Given the description of an element on the screen output the (x, y) to click on. 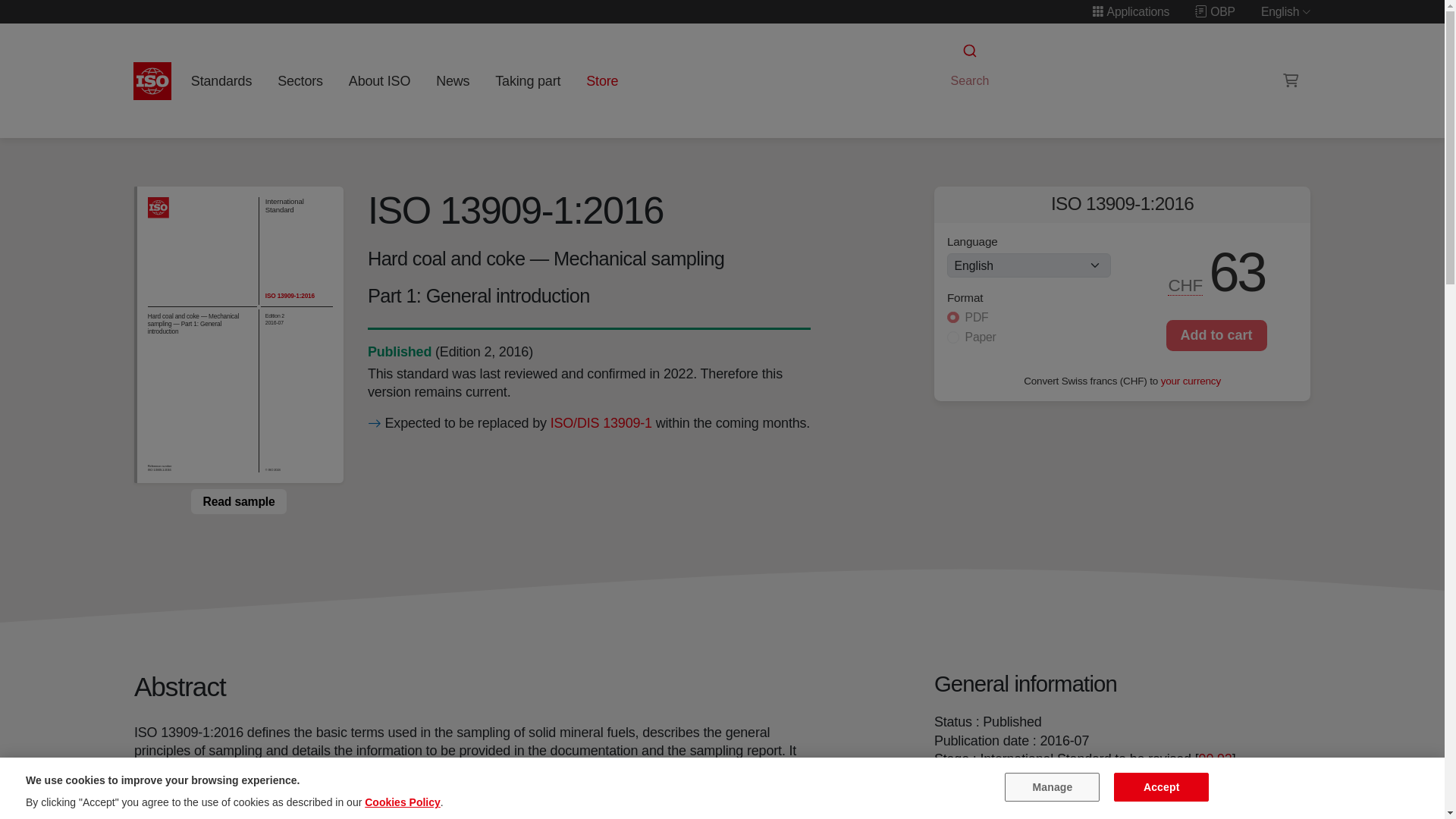
International Organization for Standardization (152, 80)
90.92 (1214, 758)
Published (398, 351)
your currency (1190, 379)
 OBP (1214, 11)
Swiss francs (1186, 285)
Add to cart (1216, 335)
Taking part (528, 80)
Standards (220, 80)
News (452, 80)
90.92 (1214, 758)
Submit (968, 51)
